Given the description of an element on the screen output the (x, y) to click on. 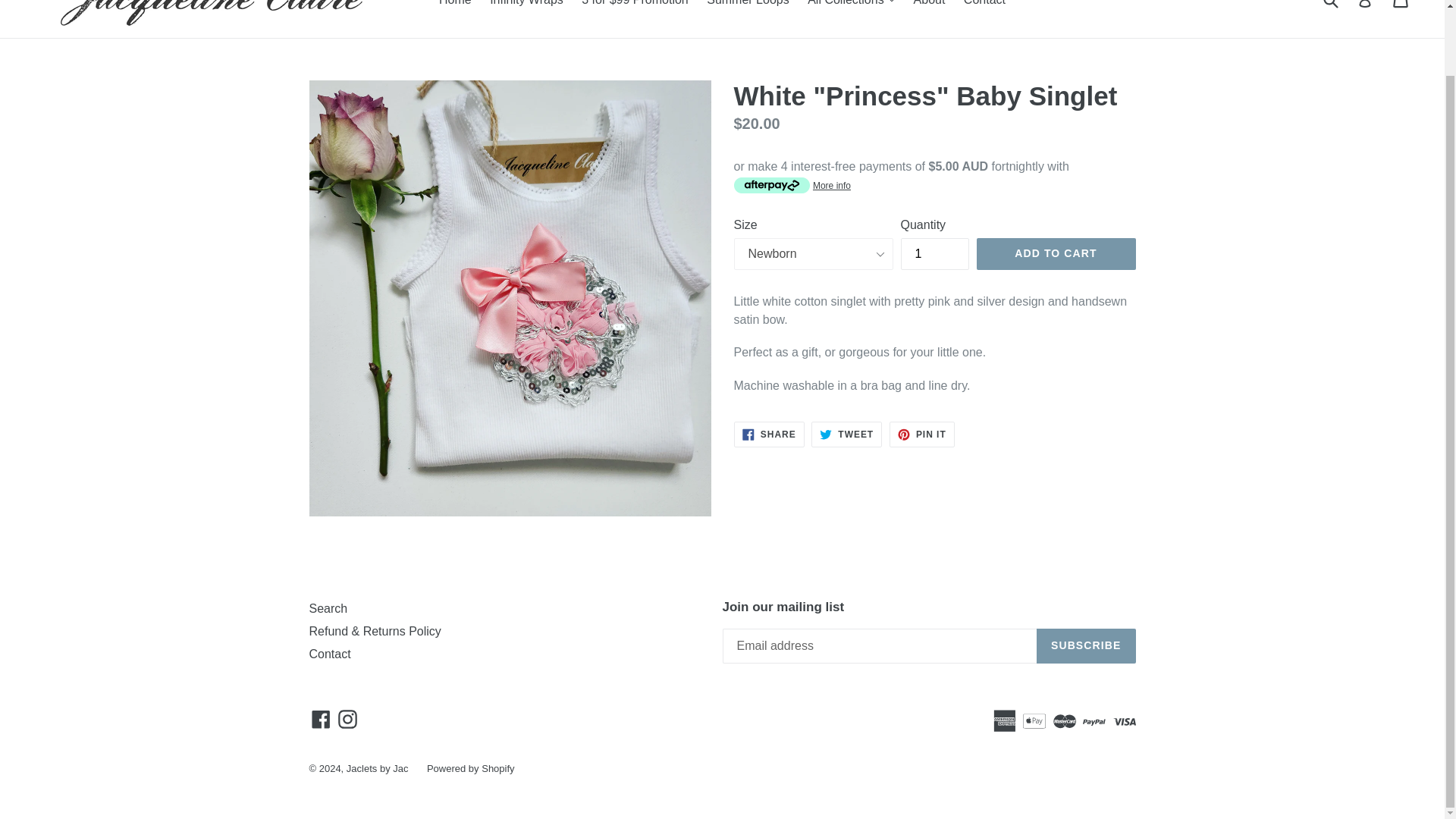
Tweet on Twitter (846, 433)
Summer Loops (747, 5)
Home (454, 5)
Infinity Wraps (525, 5)
Share on Facebook (769, 433)
1 (935, 253)
Jaclets by Jac on Facebook (320, 719)
Jaclets by Jac on Instagram (347, 719)
Pin on Pinterest (922, 433)
